Given the description of an element on the screen output the (x, y) to click on. 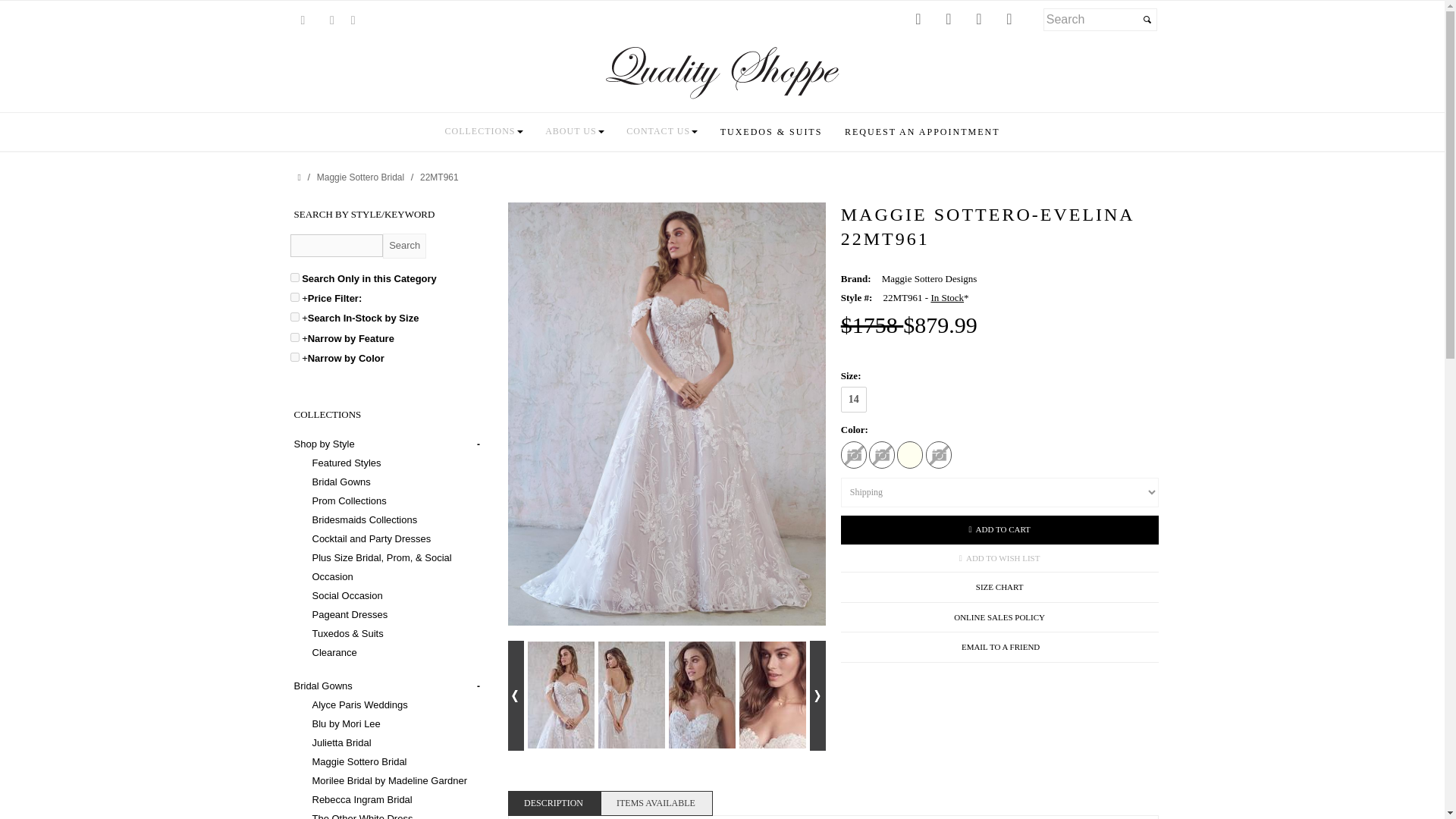
1 (293, 276)
REQUEST AN APPOINTMENT (922, 131)
CONTACT US (661, 131)
Search (404, 245)
1 (293, 297)
1 (293, 356)
1 (293, 337)
ABOUT US (573, 131)
1 (293, 276)
COLLECTIONS (483, 131)
Search (404, 245)
1 (293, 316)
